Given the description of an element on the screen output the (x, y) to click on. 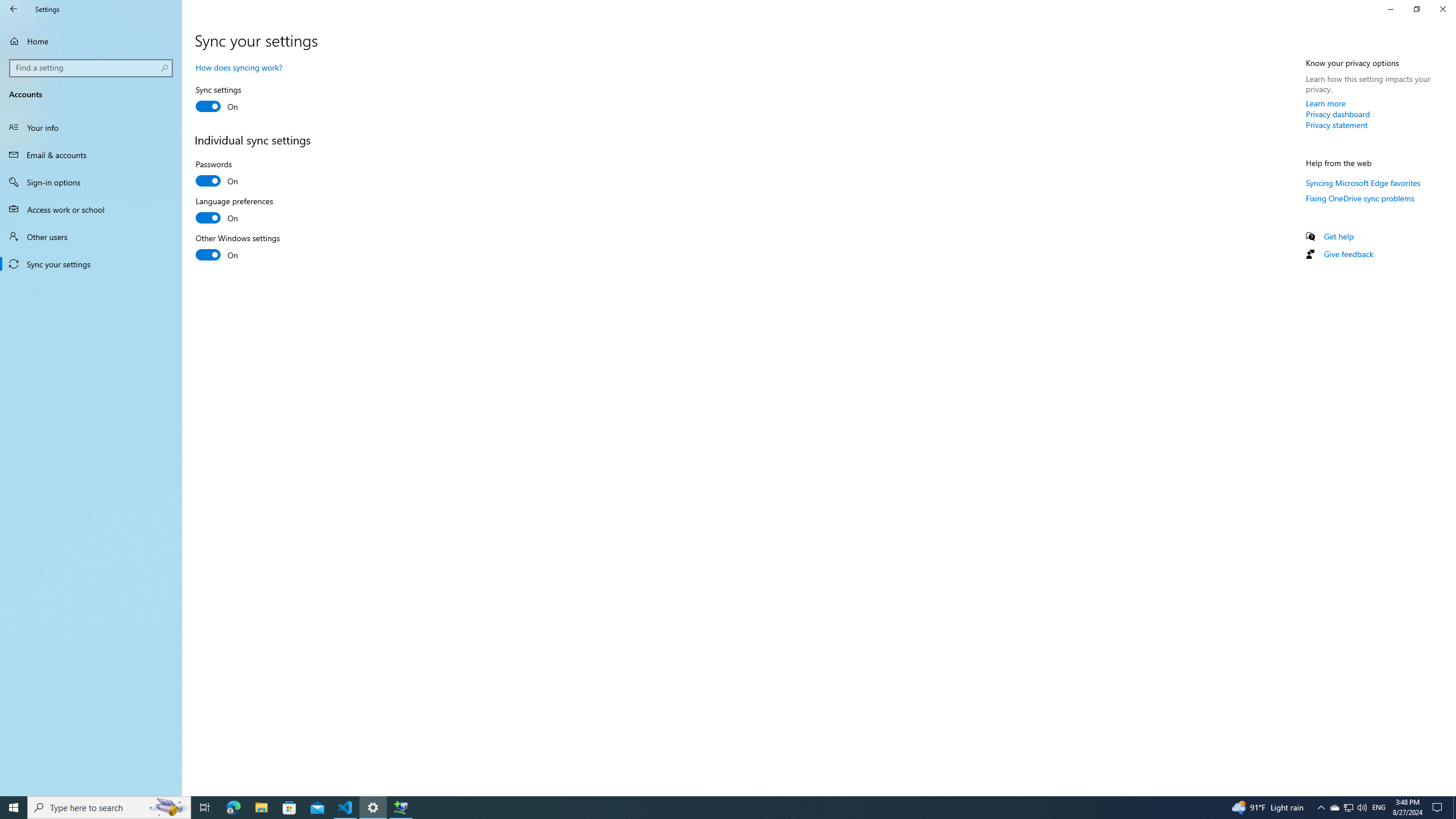
Show desktop (1454, 807)
